Given the description of an element on the screen output the (x, y) to click on. 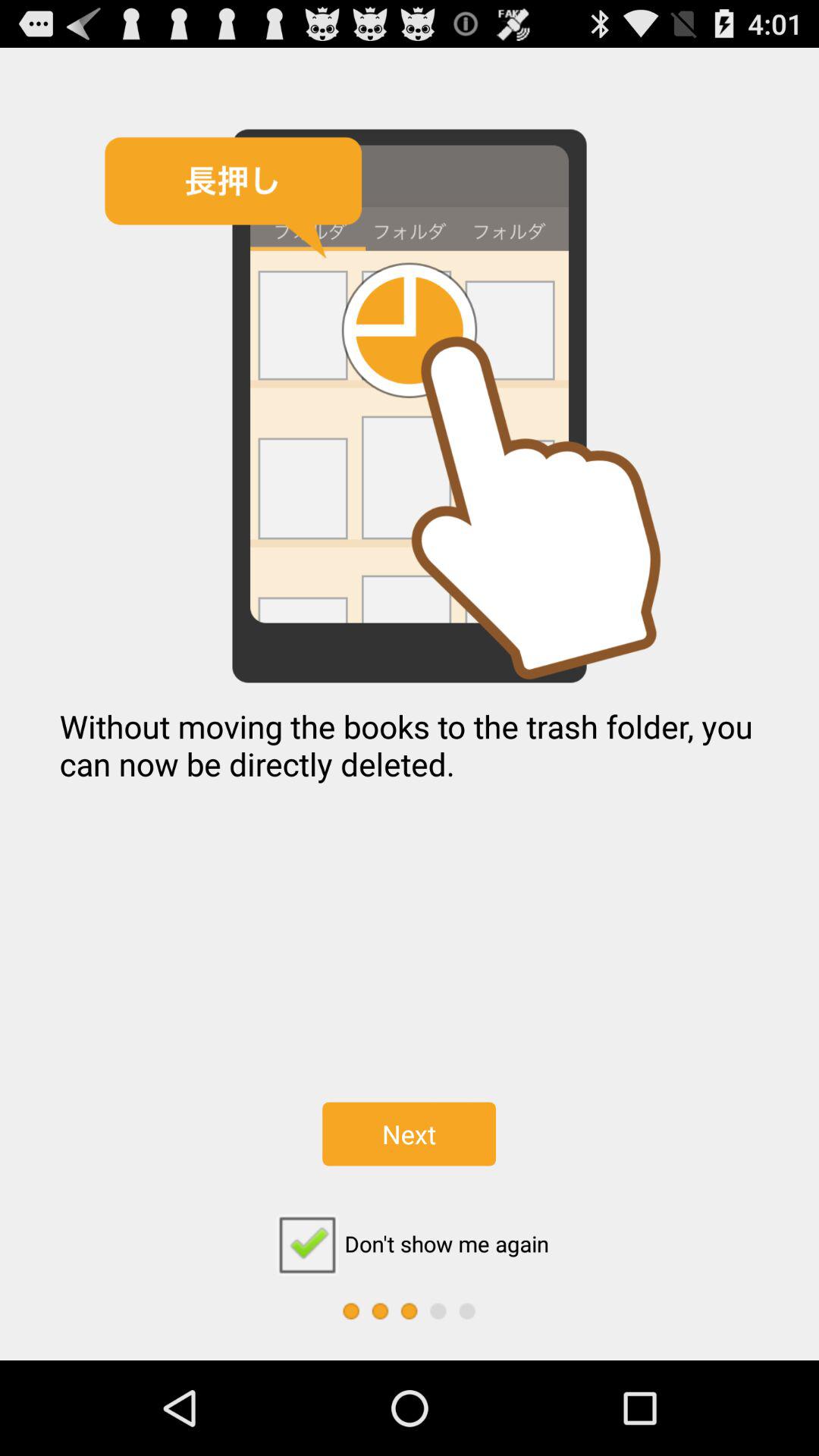
tap the next button (408, 1133)
